Given the description of an element on the screen output the (x, y) to click on. 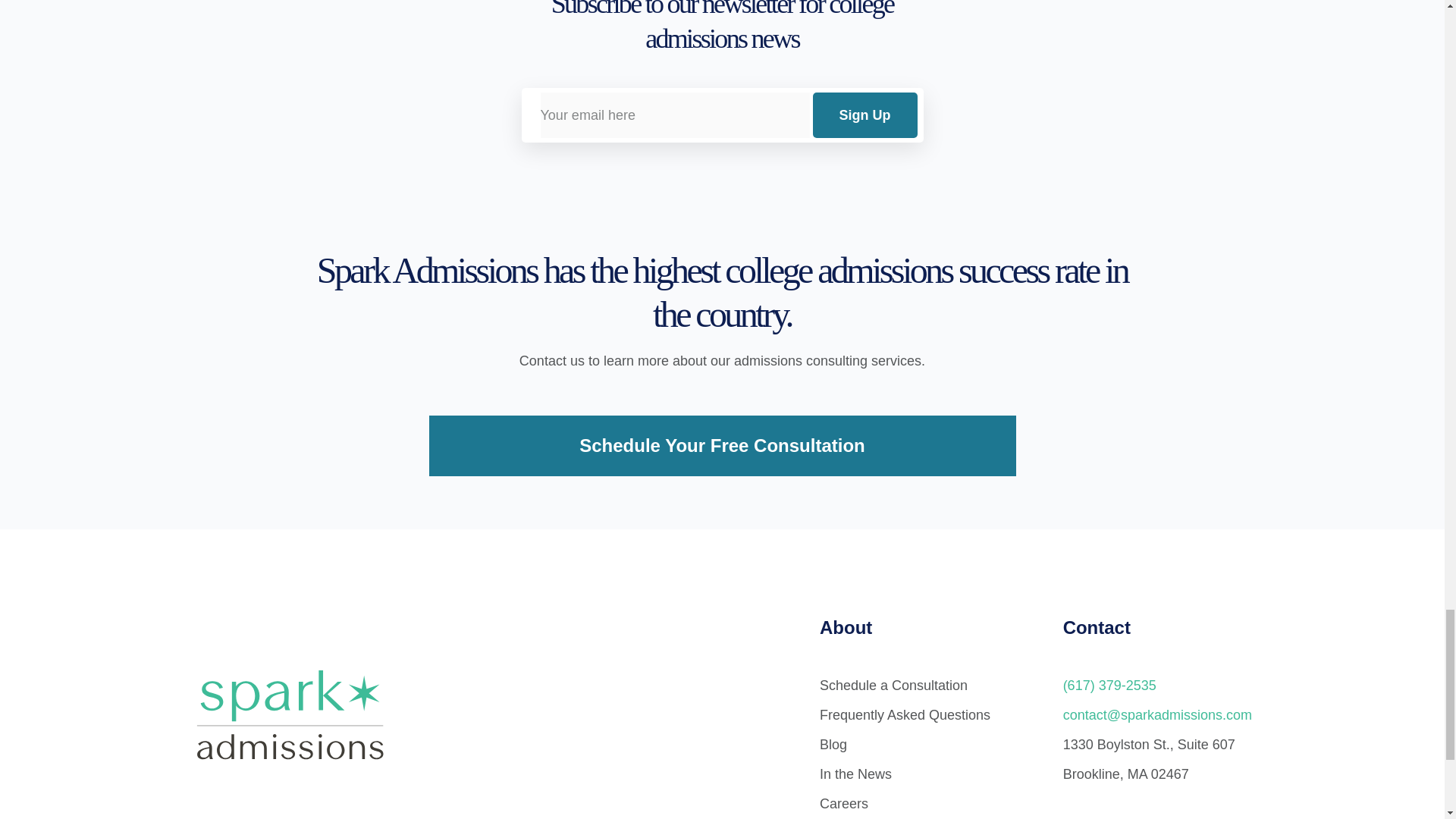
Sign Up (864, 115)
